Given the description of an element on the screen output the (x, y) to click on. 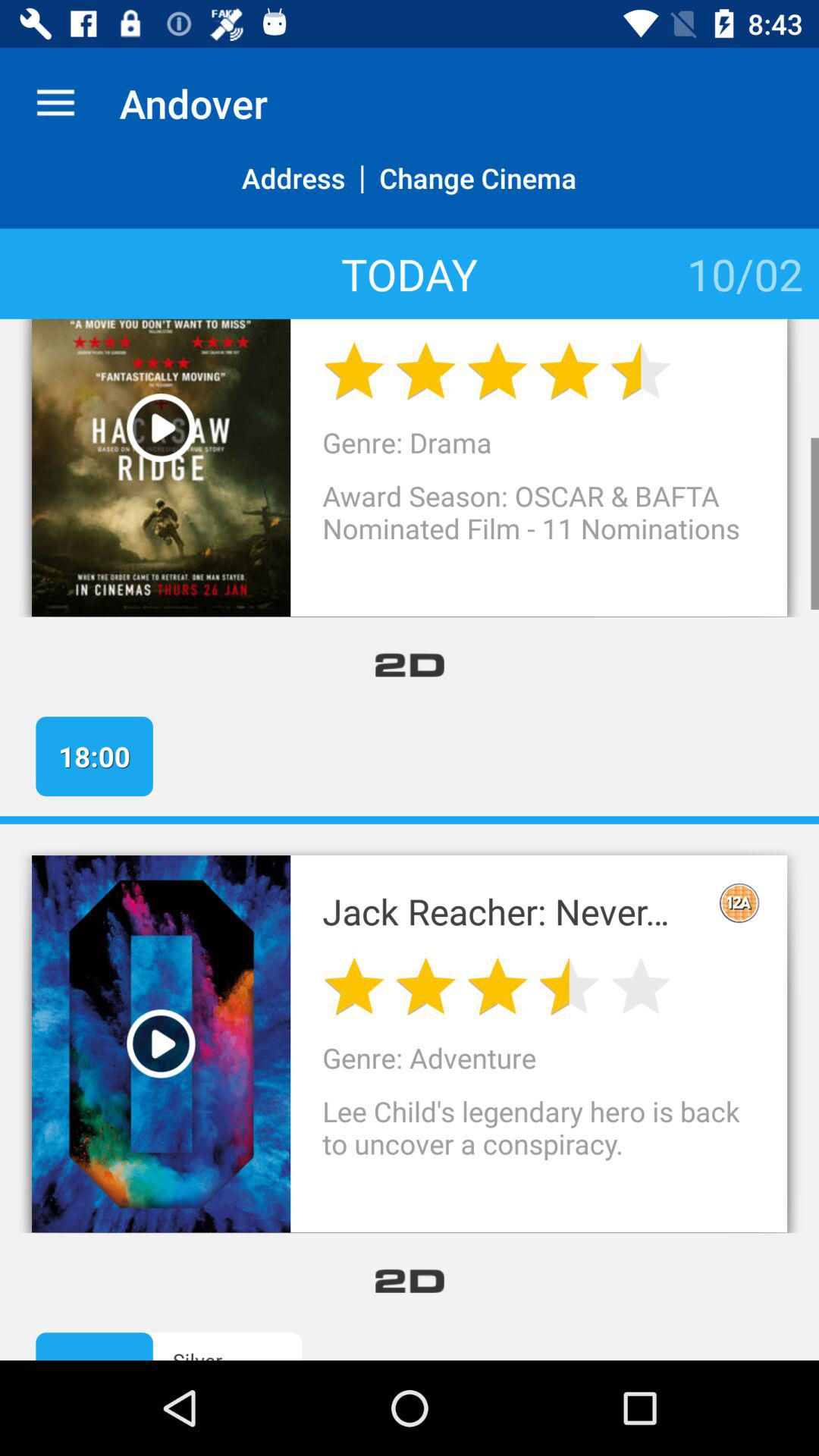
select icon next to the 14:00 icon (250, 1353)
